Given the description of an element on the screen output the (x, y) to click on. 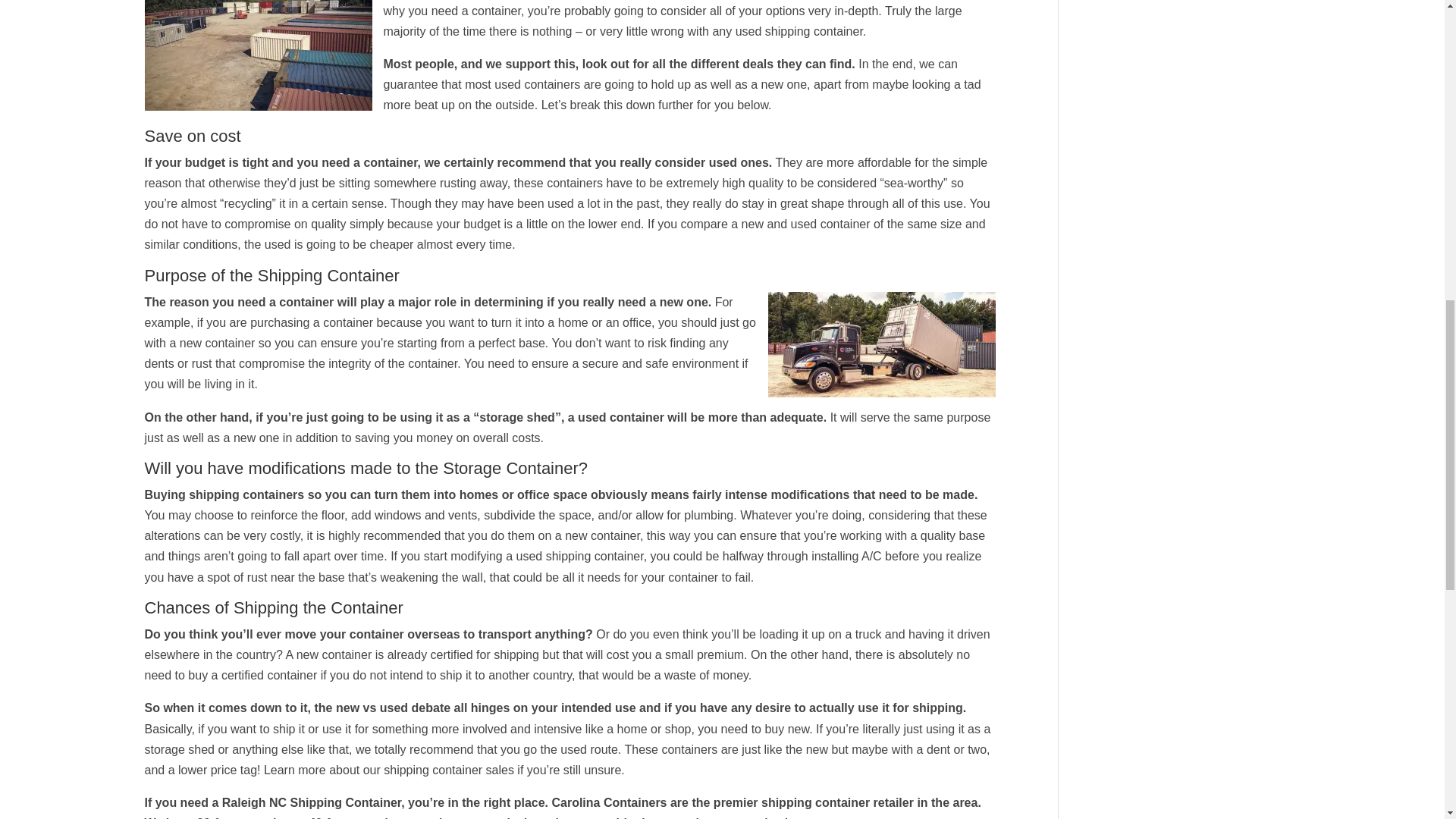
Raleigh NC Shipping Container (311, 802)
20-foot containers (249, 817)
40-foot containers (360, 817)
Carolina Containers (608, 802)
shipping container customizations (709, 817)
modifying a used shipping container (544, 555)
shipping container sales (446, 769)
shipping container (814, 31)
